Given the description of an element on the screen output the (x, y) to click on. 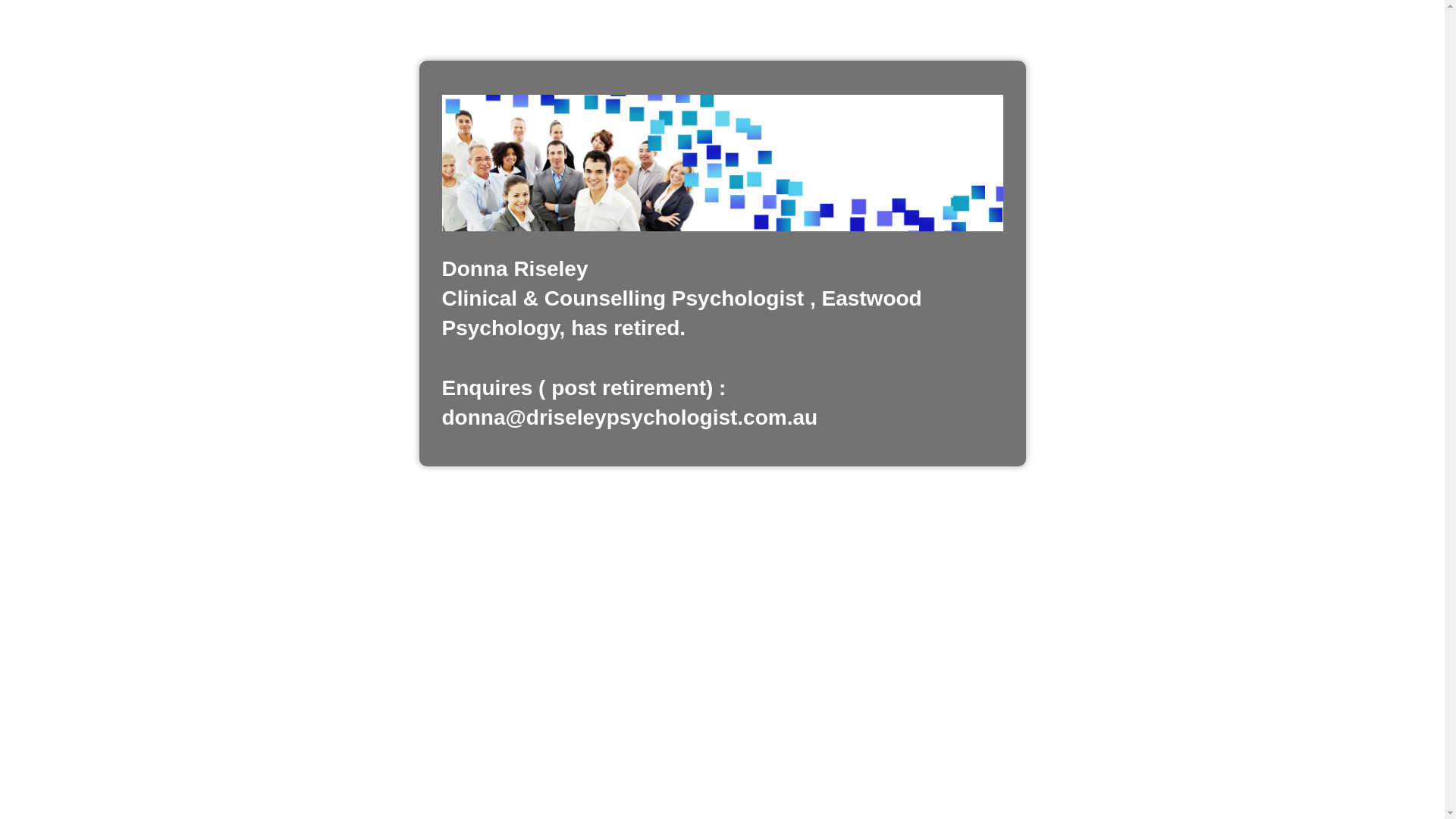
My Blog Element type: hover (721, 162)
